Given the description of an element on the screen output the (x, y) to click on. 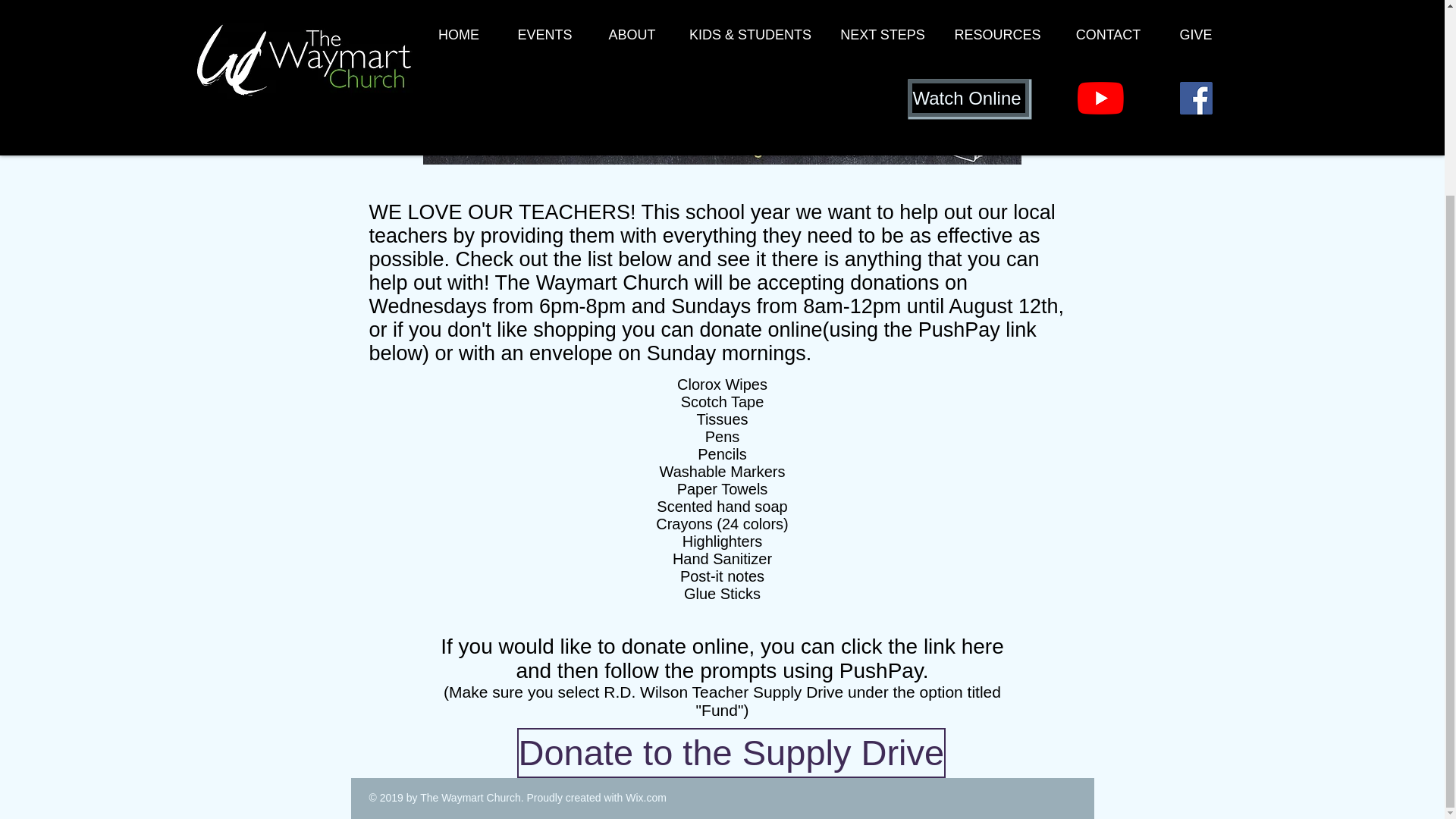
Donate to the Supply Drive (731, 753)
